Given the description of an element on the screen output the (x, y) to click on. 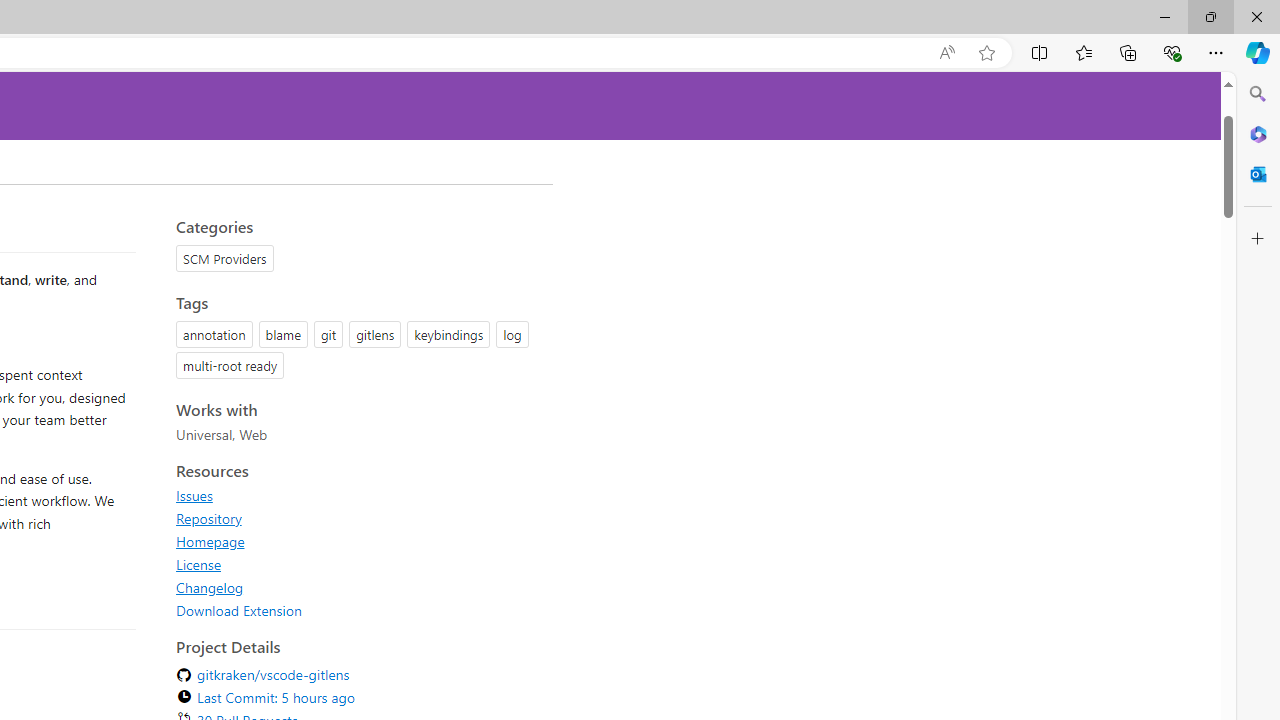
Changelog (358, 587)
License (198, 564)
